Given the description of an element on the screen output the (x, y) to click on. 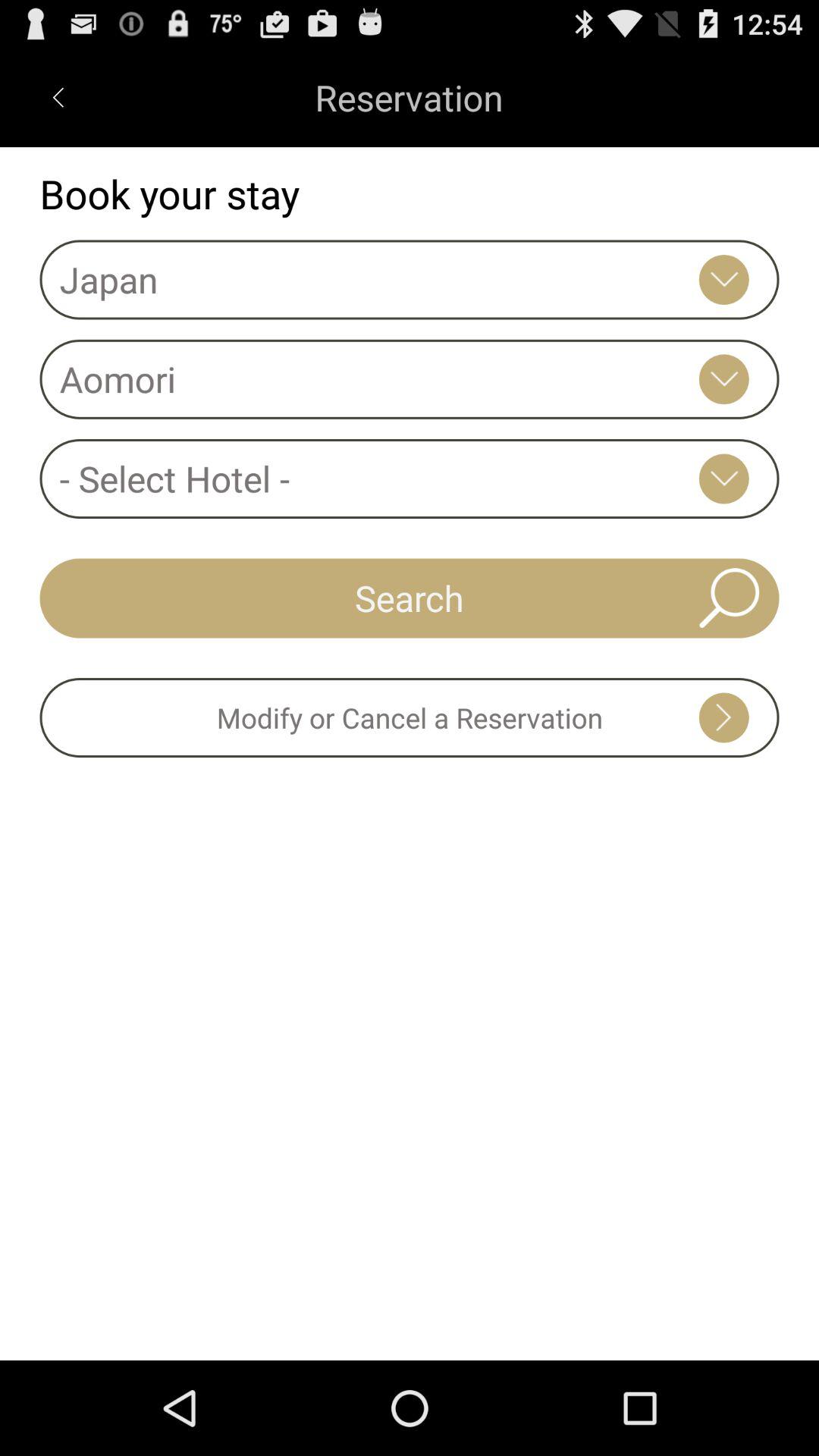
select icon to the left of the reservation app (57, 97)
